Given the description of an element on the screen output the (x, y) to click on. 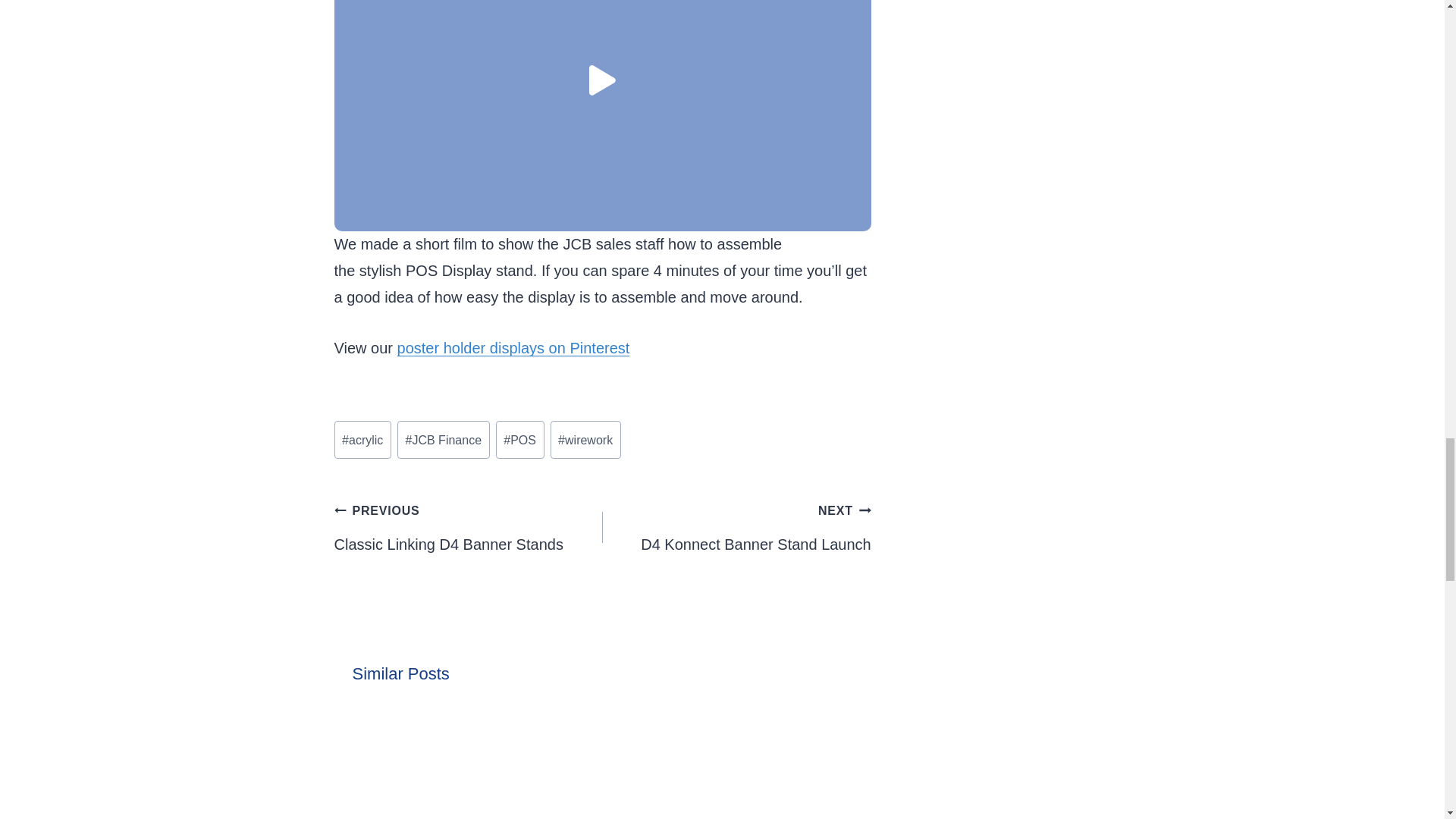
acrylic (361, 439)
wirework (585, 439)
POS (520, 439)
JCB Finance (443, 439)
